Given the description of an element on the screen output the (x, y) to click on. 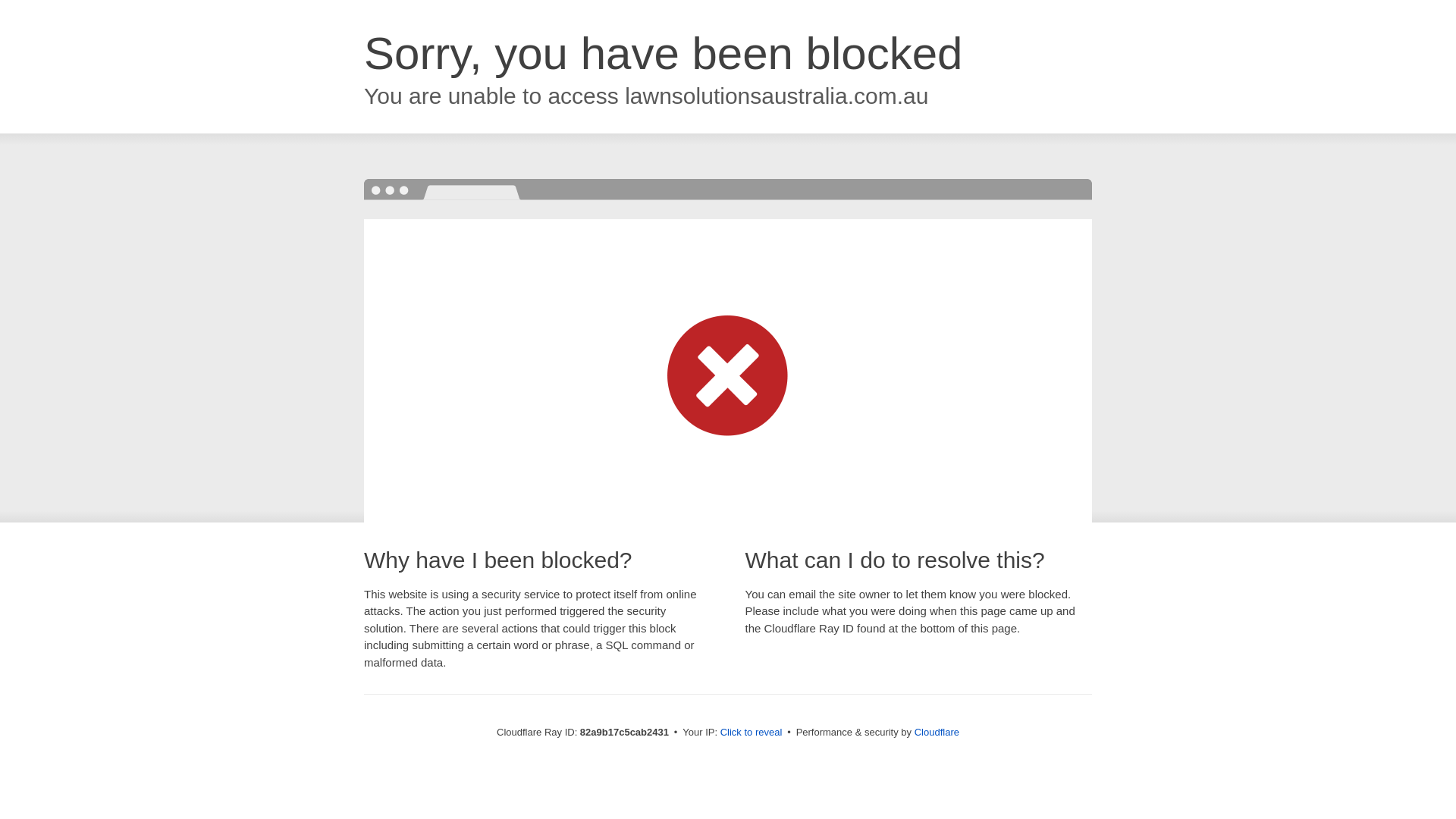
Cloudflare Element type: text (936, 731)
Click to reveal Element type: text (751, 732)
